Given the description of an element on the screen output the (x, y) to click on. 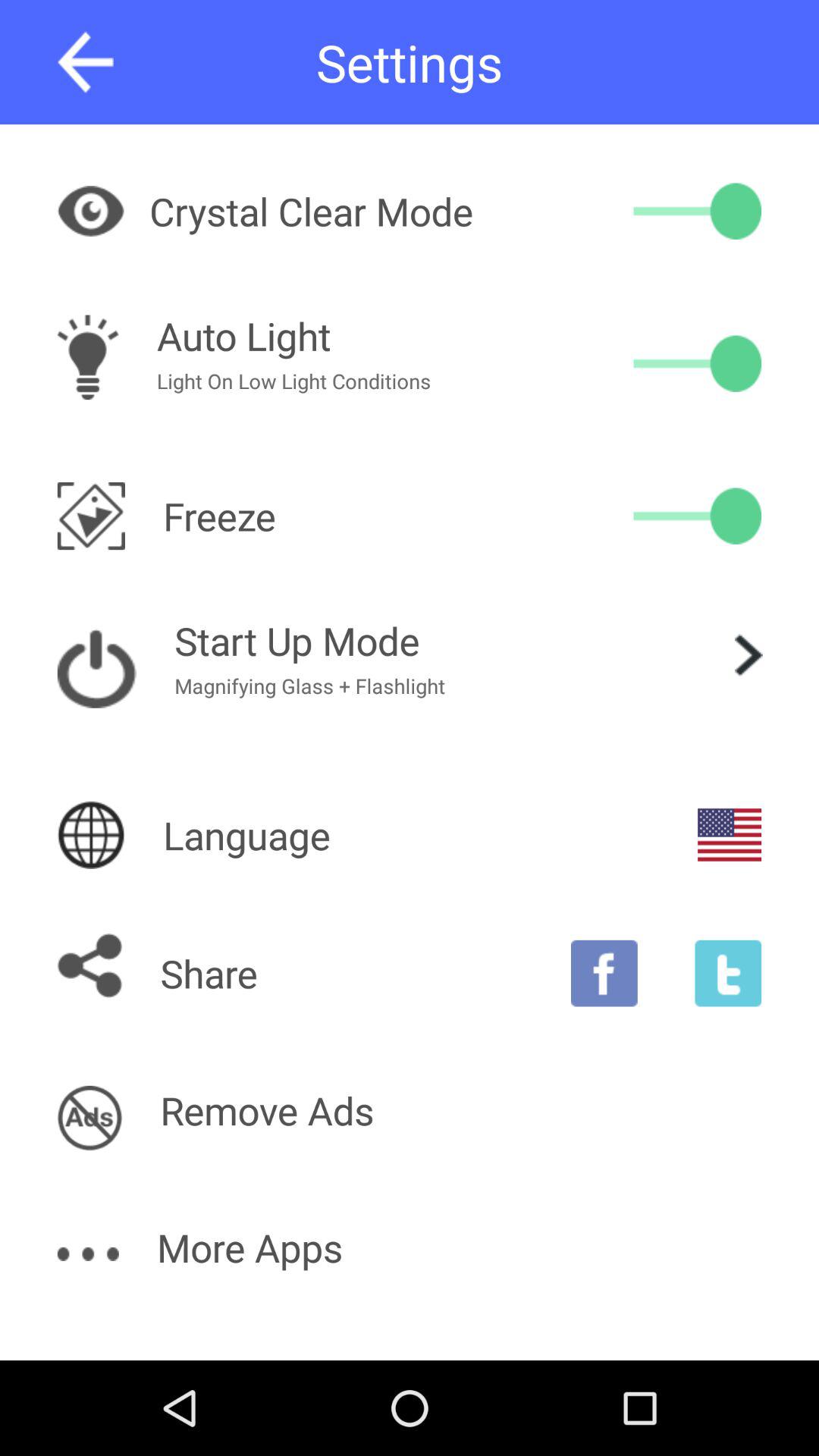
share on twitter (728, 973)
